Given the description of an element on the screen output the (x, y) to click on. 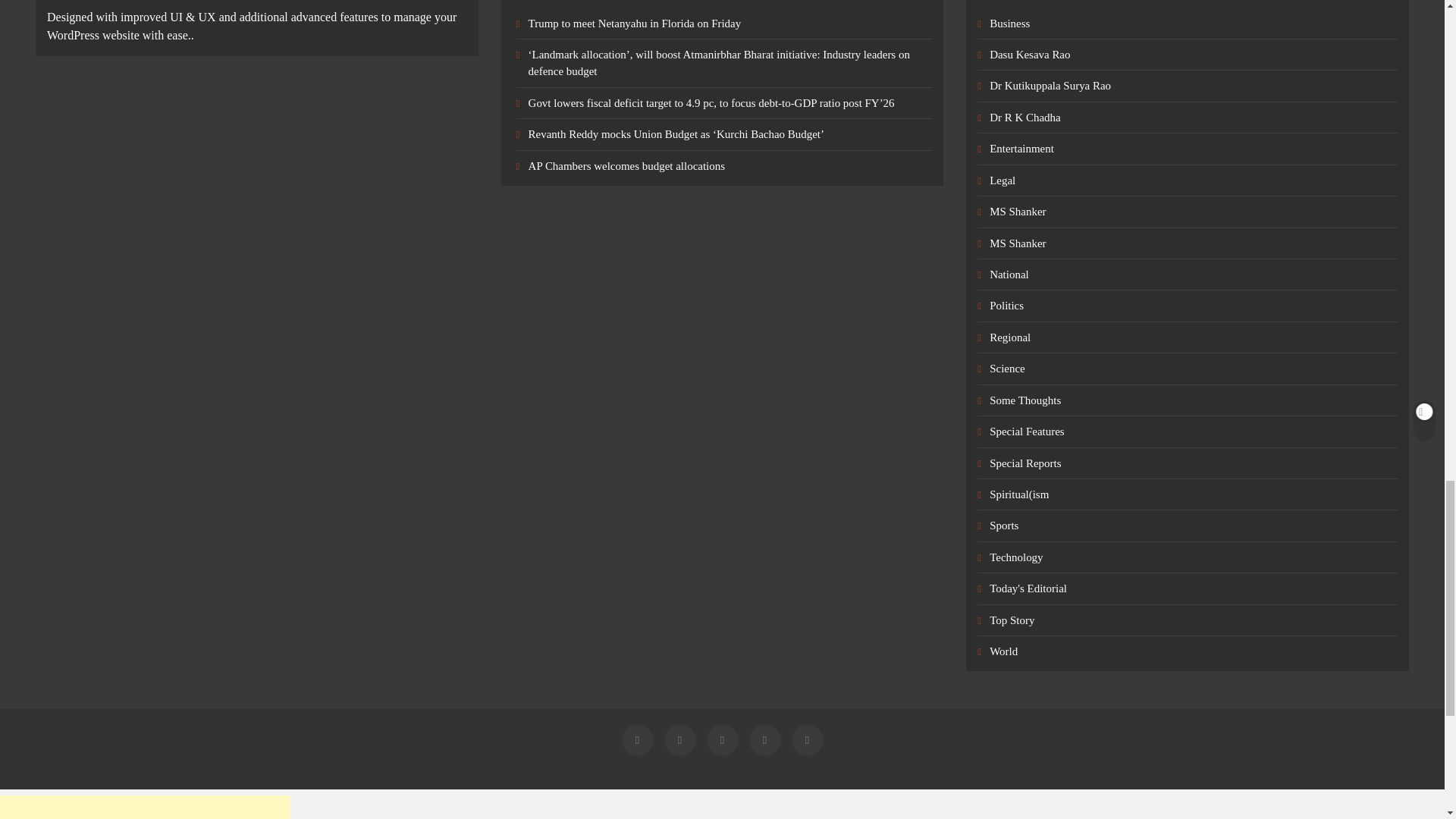
Advertisement (144, 807)
